Given the description of an element on the screen output the (x, y) to click on. 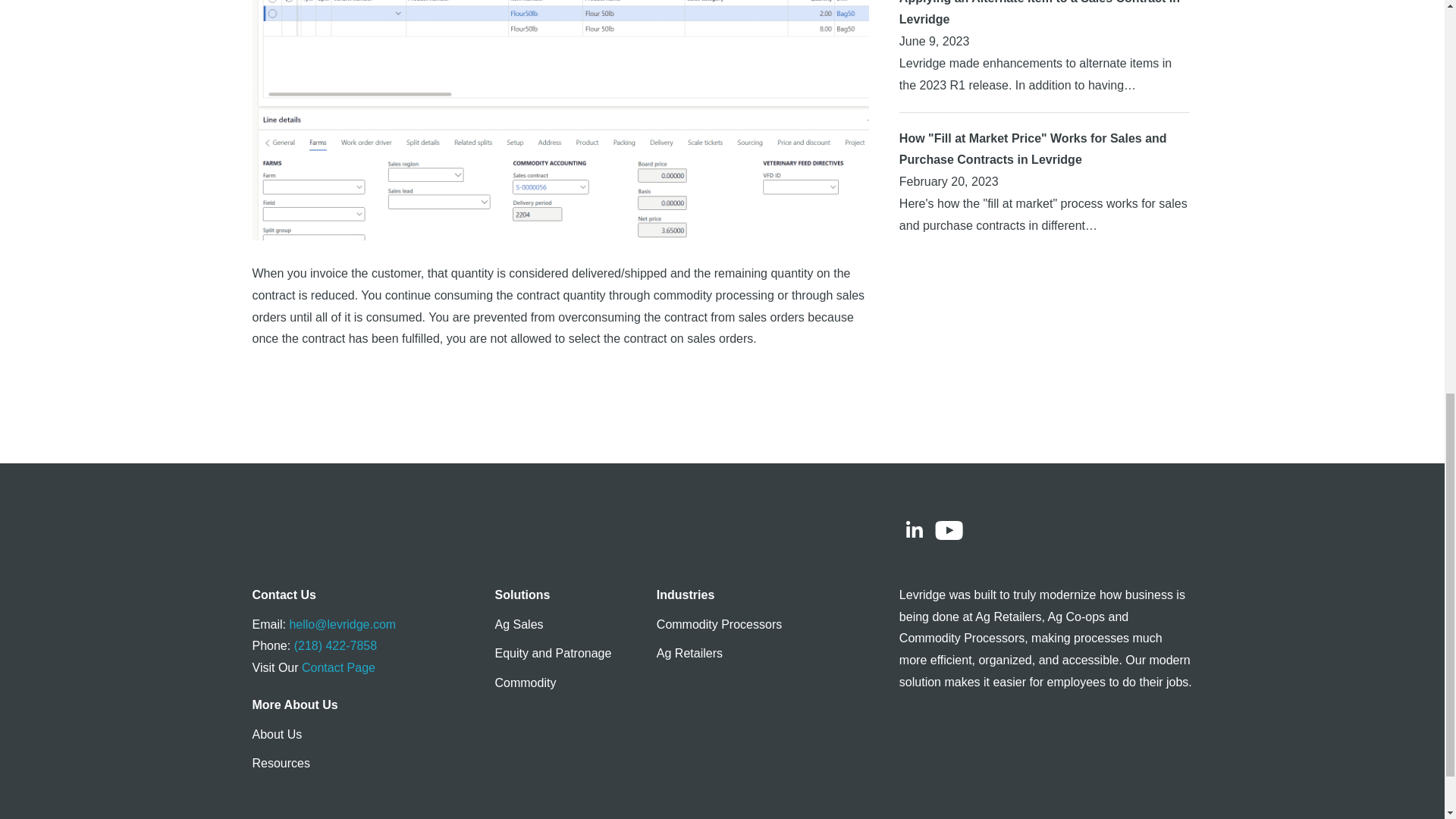
Applying an Alternate Item to a Sales Contract in Levridge (1039, 13)
